Given the description of an element on the screen output the (x, y) to click on. 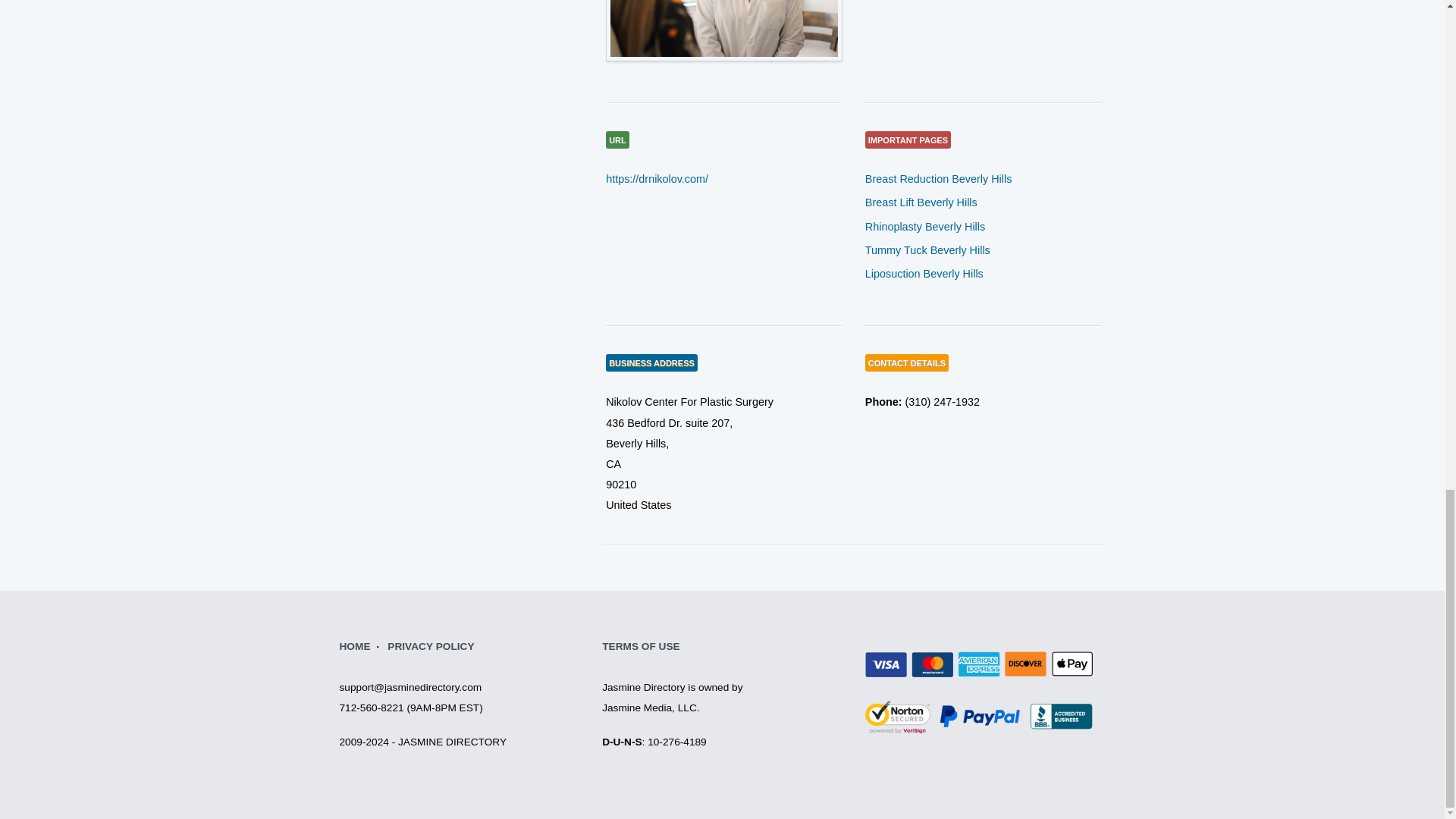
PRIVACY POLICY (430, 645)
Rhinoplasty Beverly Hills (924, 226)
Breast Reduction Beverly Hills (937, 178)
Liposuction Beverly Hills (924, 273)
Tummy Tuck Beverly Hills (927, 250)
BUSINESS WEB DIRECTORY (355, 645)
TERMS OF USE (640, 645)
HOME (355, 645)
Breast Lift Beverly Hills (920, 202)
